Given the description of an element on the screen output the (x, y) to click on. 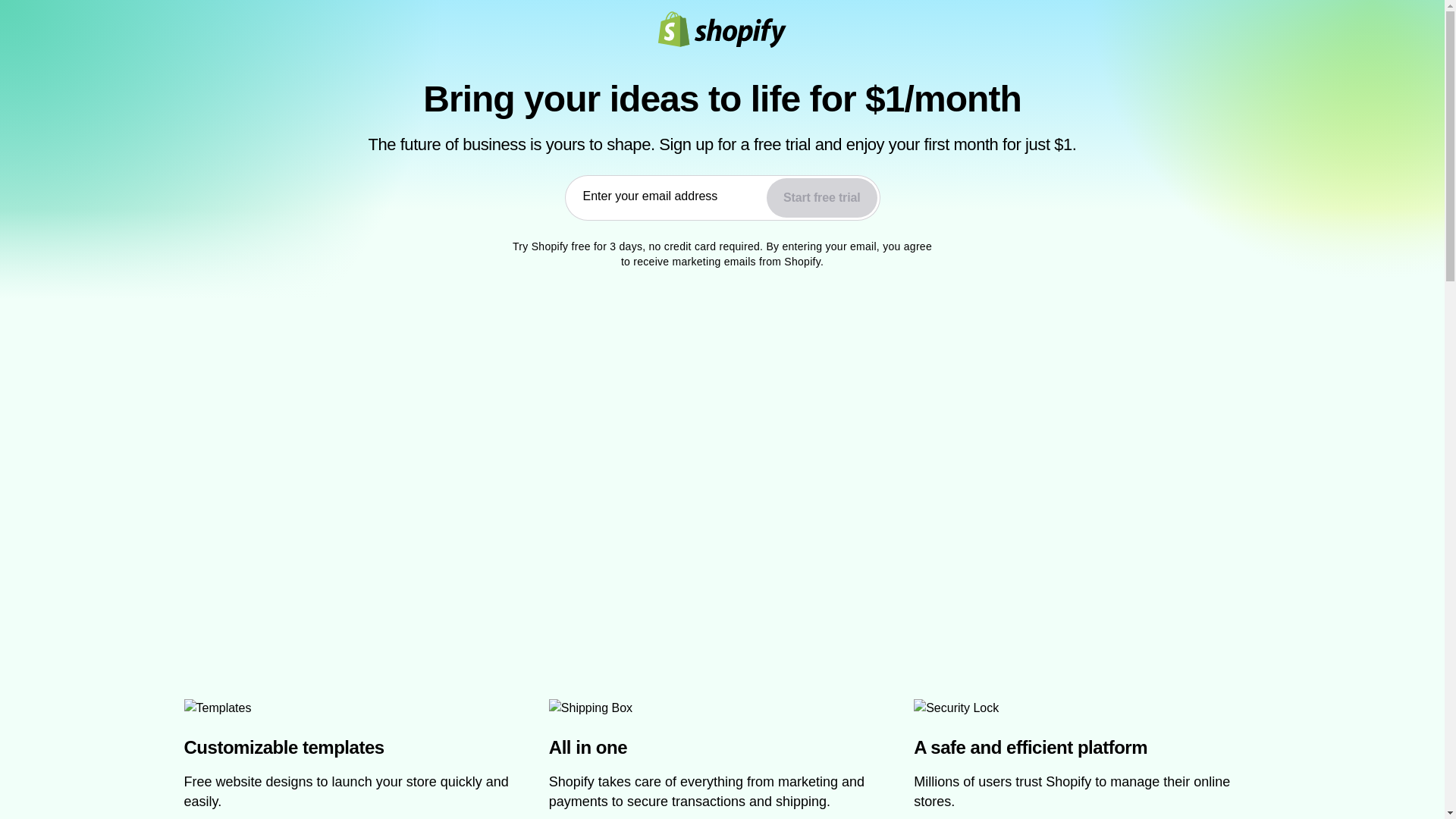
Start free trial (821, 197)
